Given the description of an element on the screen output the (x, y) to click on. 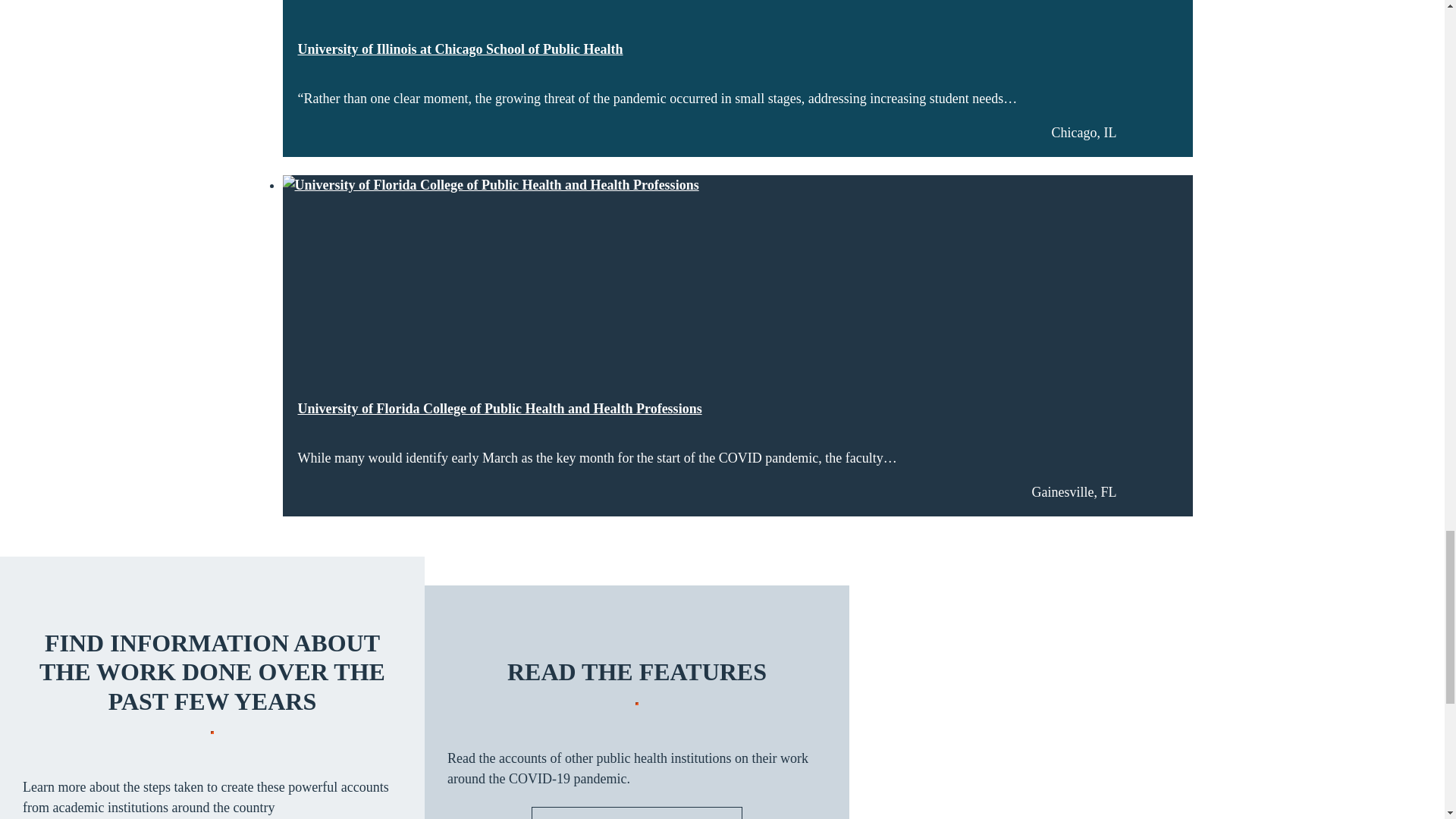
DISCOVER MORE STORIES (636, 812)
University of Illinois at Chicago School of Public Health (460, 49)
